Given the description of an element on the screen output the (x, y) to click on. 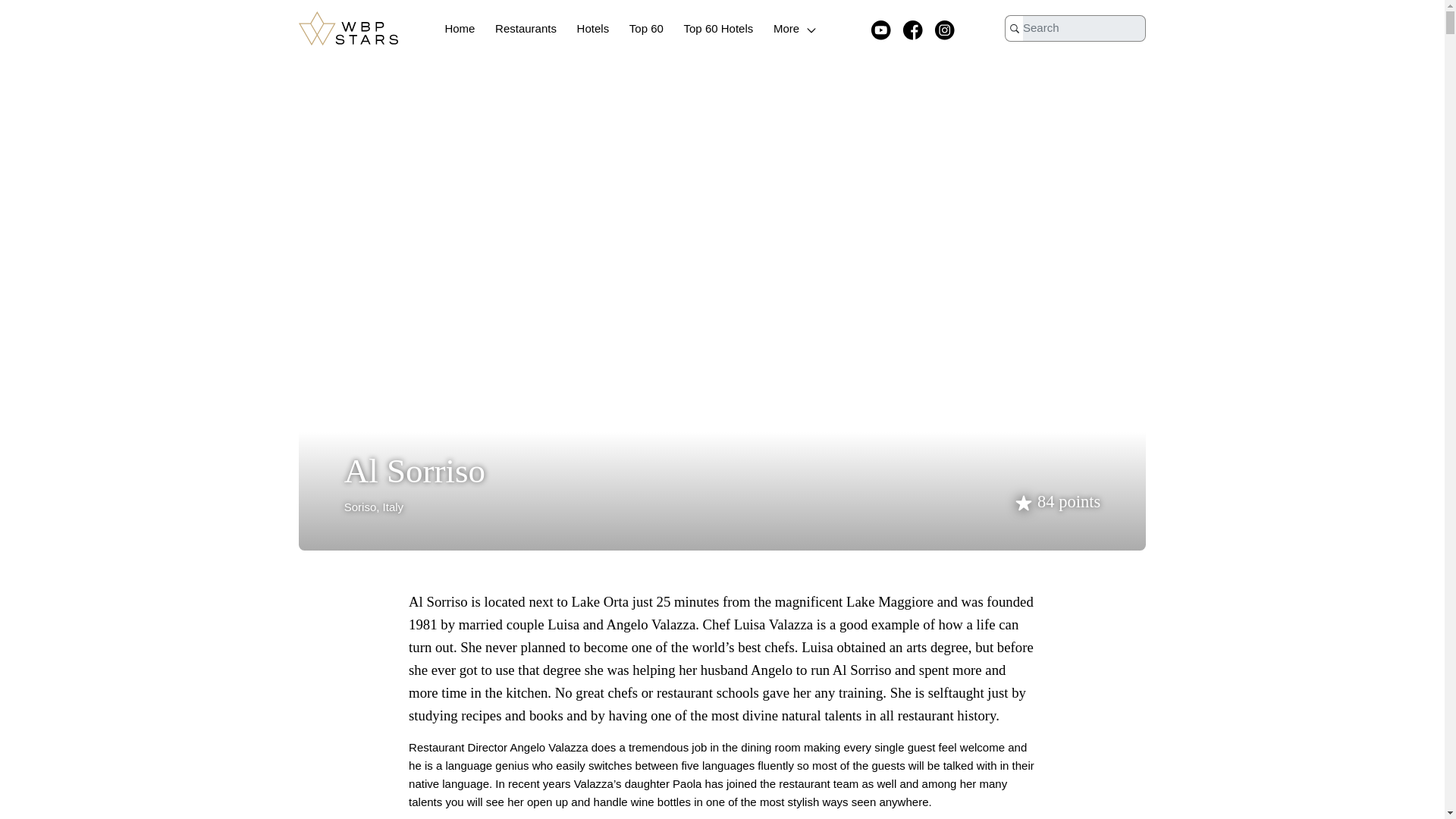
More (797, 28)
Restaurants (525, 28)
Hotels (593, 28)
About our rating system (1055, 501)
84 points (1055, 501)
Top 60 (645, 28)
Top 60 Hotels (719, 28)
